Given the description of an element on the screen output the (x, y) to click on. 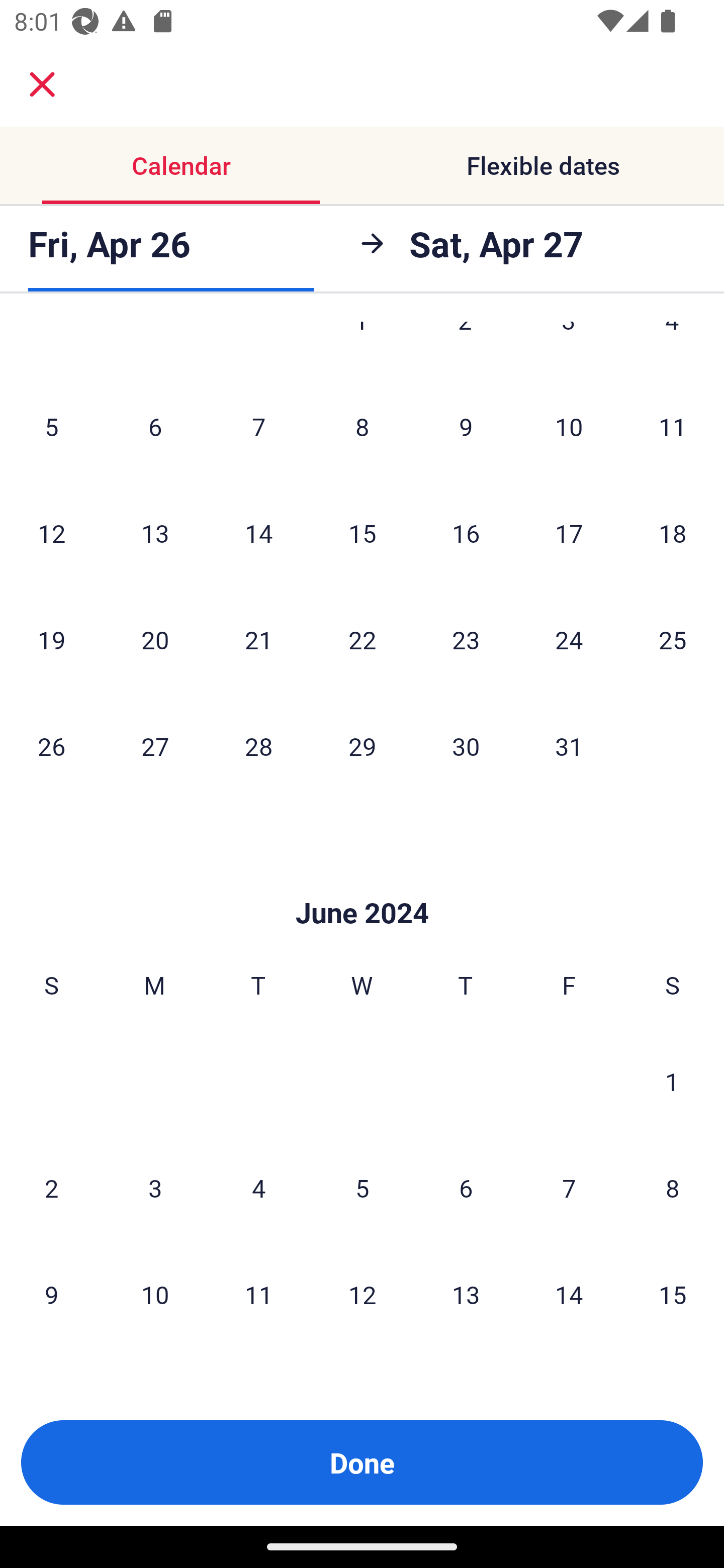
close. (42, 84)
Flexible dates (542, 164)
5 Sunday, May 5, 2024 (51, 426)
6 Monday, May 6, 2024 (155, 426)
7 Tuesday, May 7, 2024 (258, 426)
8 Wednesday, May 8, 2024 (362, 426)
9 Thursday, May 9, 2024 (465, 426)
10 Friday, May 10, 2024 (569, 426)
11 Saturday, May 11, 2024 (672, 426)
12 Sunday, May 12, 2024 (51, 532)
13 Monday, May 13, 2024 (155, 532)
14 Tuesday, May 14, 2024 (258, 532)
15 Wednesday, May 15, 2024 (362, 532)
16 Thursday, May 16, 2024 (465, 532)
17 Friday, May 17, 2024 (569, 532)
18 Saturday, May 18, 2024 (672, 532)
19 Sunday, May 19, 2024 (51, 639)
20 Monday, May 20, 2024 (155, 639)
21 Tuesday, May 21, 2024 (258, 639)
22 Wednesday, May 22, 2024 (362, 639)
23 Thursday, May 23, 2024 (465, 639)
24 Friday, May 24, 2024 (569, 639)
25 Saturday, May 25, 2024 (672, 639)
26 Sunday, May 26, 2024 (51, 746)
27 Monday, May 27, 2024 (155, 746)
28 Tuesday, May 28, 2024 (258, 746)
29 Wednesday, May 29, 2024 (362, 746)
30 Thursday, May 30, 2024 (465, 746)
31 Friday, May 31, 2024 (569, 746)
Skip to Done (362, 882)
1 Saturday, June 1, 2024 (672, 1081)
2 Sunday, June 2, 2024 (51, 1187)
3 Monday, June 3, 2024 (155, 1187)
4 Tuesday, June 4, 2024 (258, 1187)
5 Wednesday, June 5, 2024 (362, 1187)
6 Thursday, June 6, 2024 (465, 1187)
7 Friday, June 7, 2024 (569, 1187)
8 Saturday, June 8, 2024 (672, 1187)
9 Sunday, June 9, 2024 (51, 1294)
10 Monday, June 10, 2024 (155, 1294)
11 Tuesday, June 11, 2024 (258, 1294)
12 Wednesday, June 12, 2024 (362, 1294)
13 Thursday, June 13, 2024 (465, 1294)
14 Friday, June 14, 2024 (569, 1294)
15 Saturday, June 15, 2024 (672, 1294)
Done (361, 1462)
